Given the description of an element on the screen output the (x, y) to click on. 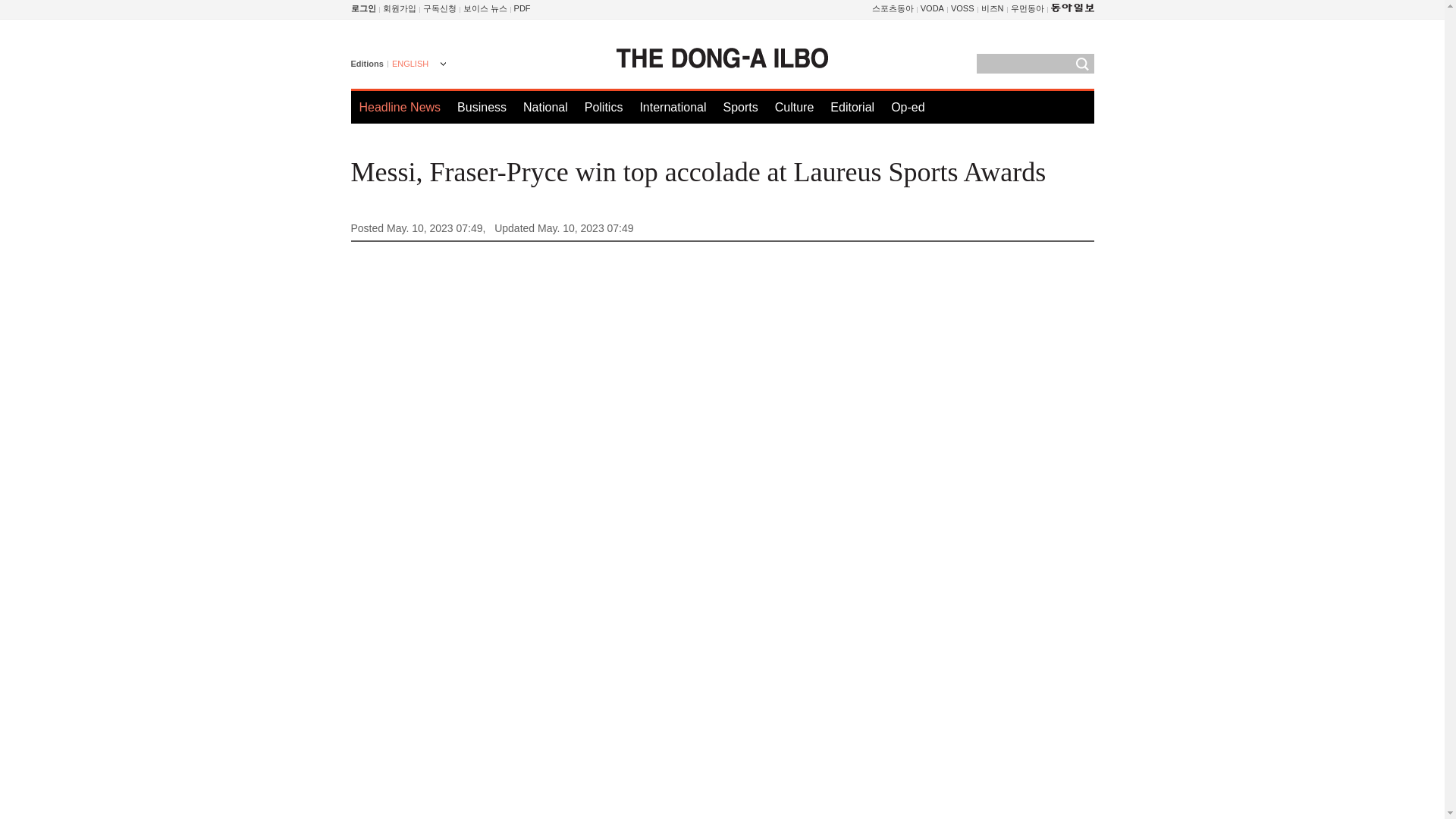
WOMAN (1026, 8)
VOSS (962, 8)
VOICE (484, 8)
VOSS (962, 8)
PDF (522, 8)
Business (481, 106)
PDF (522, 8)
National (544, 106)
Editorial (852, 106)
Op-ed (907, 106)
